Given the description of an element on the screen output the (x, y) to click on. 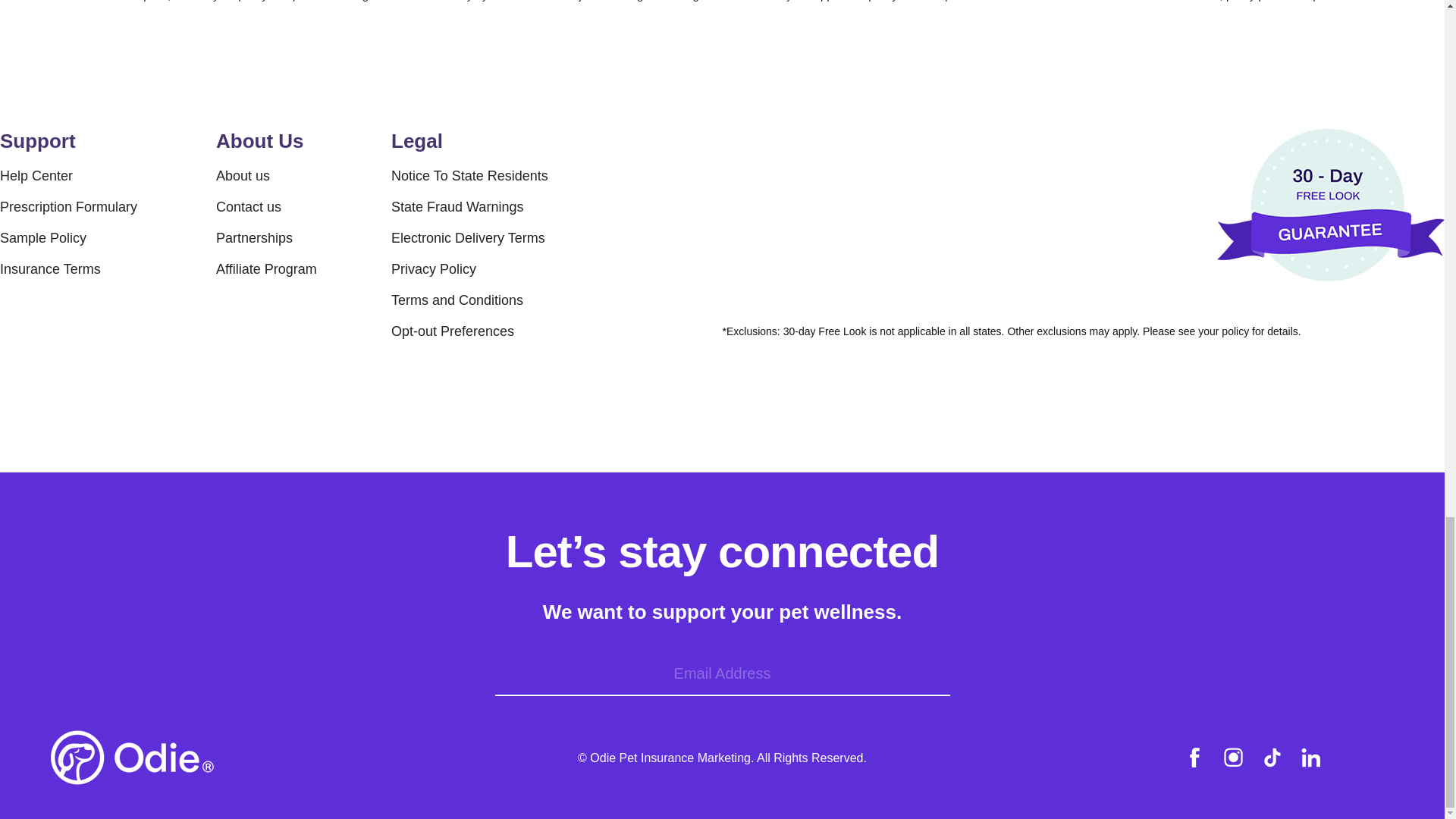
footer-logo (132, 757)
insta-logo (1233, 757)
fb-logo (1194, 757)
tiktok-logo (1272, 757)
linkedin-logo (1310, 757)
